Given the description of an element on the screen output the (x, y) to click on. 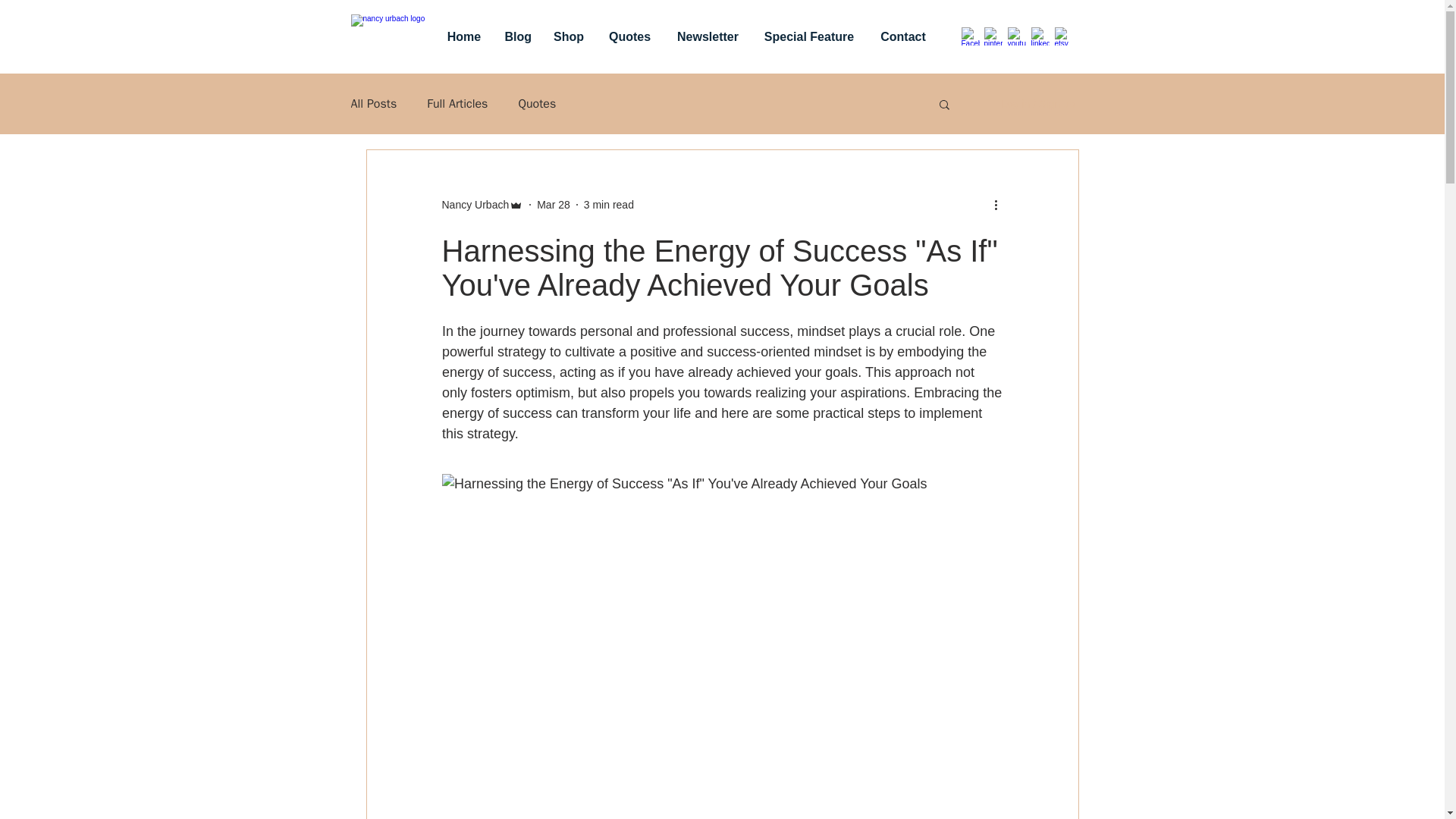
Full Articles (456, 103)
Nancy Urbach (474, 204)
Newsletter (707, 36)
Quotes (629, 36)
Shop (568, 36)
Contact (902, 36)
All Posts (373, 103)
3 min read (608, 204)
Home (464, 36)
Mar 28 (553, 204)
Blog (517, 36)
Quotes (537, 103)
Special Feature (809, 36)
